Given the description of an element on the screen output the (x, y) to click on. 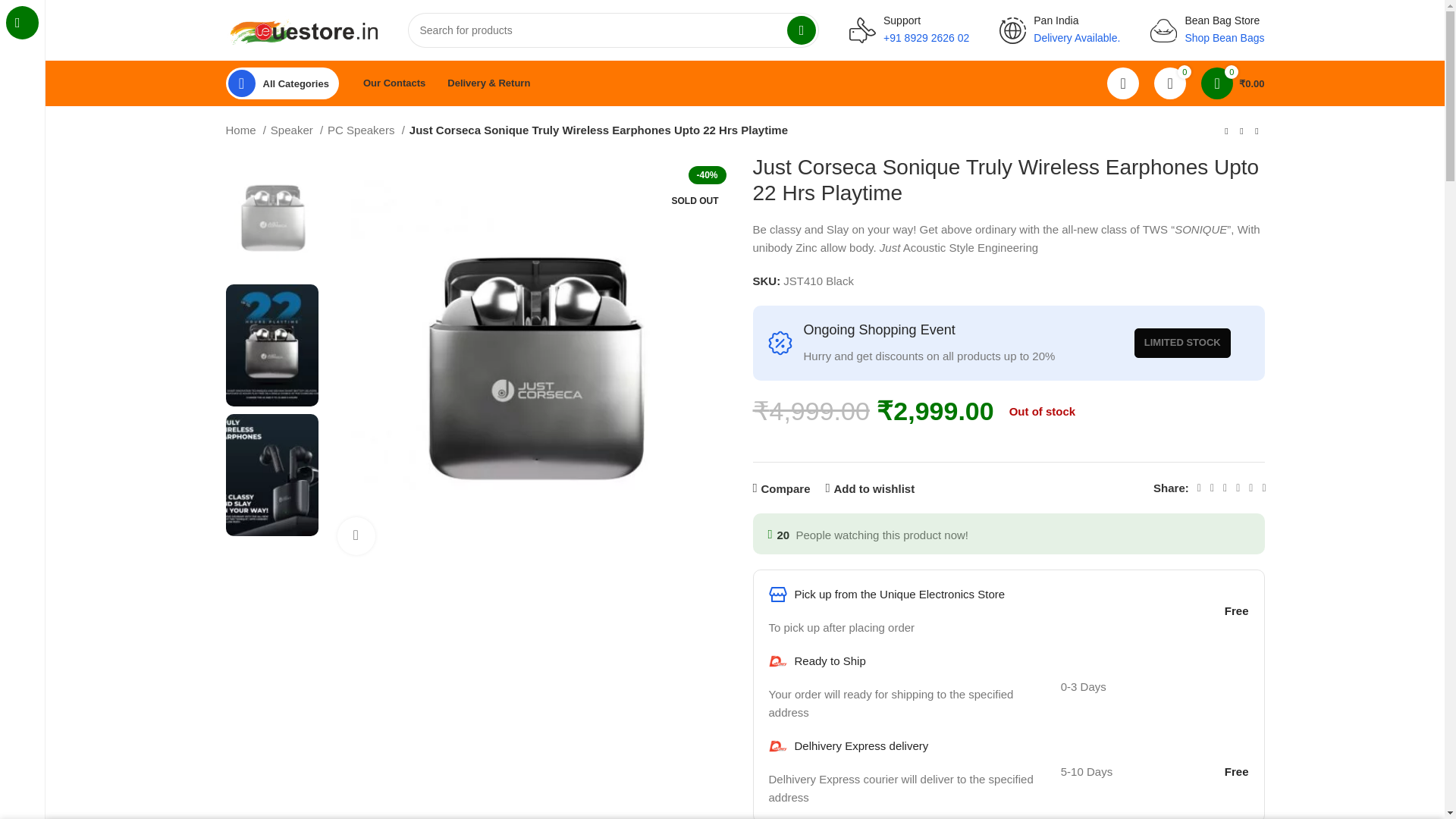
support (862, 29)
Search for products (612, 30)
worldwide (1012, 29)
My account (1123, 82)
My Wishlist (1170, 82)
Shopping cart (1232, 82)
